Given the description of an element on the screen output the (x, y) to click on. 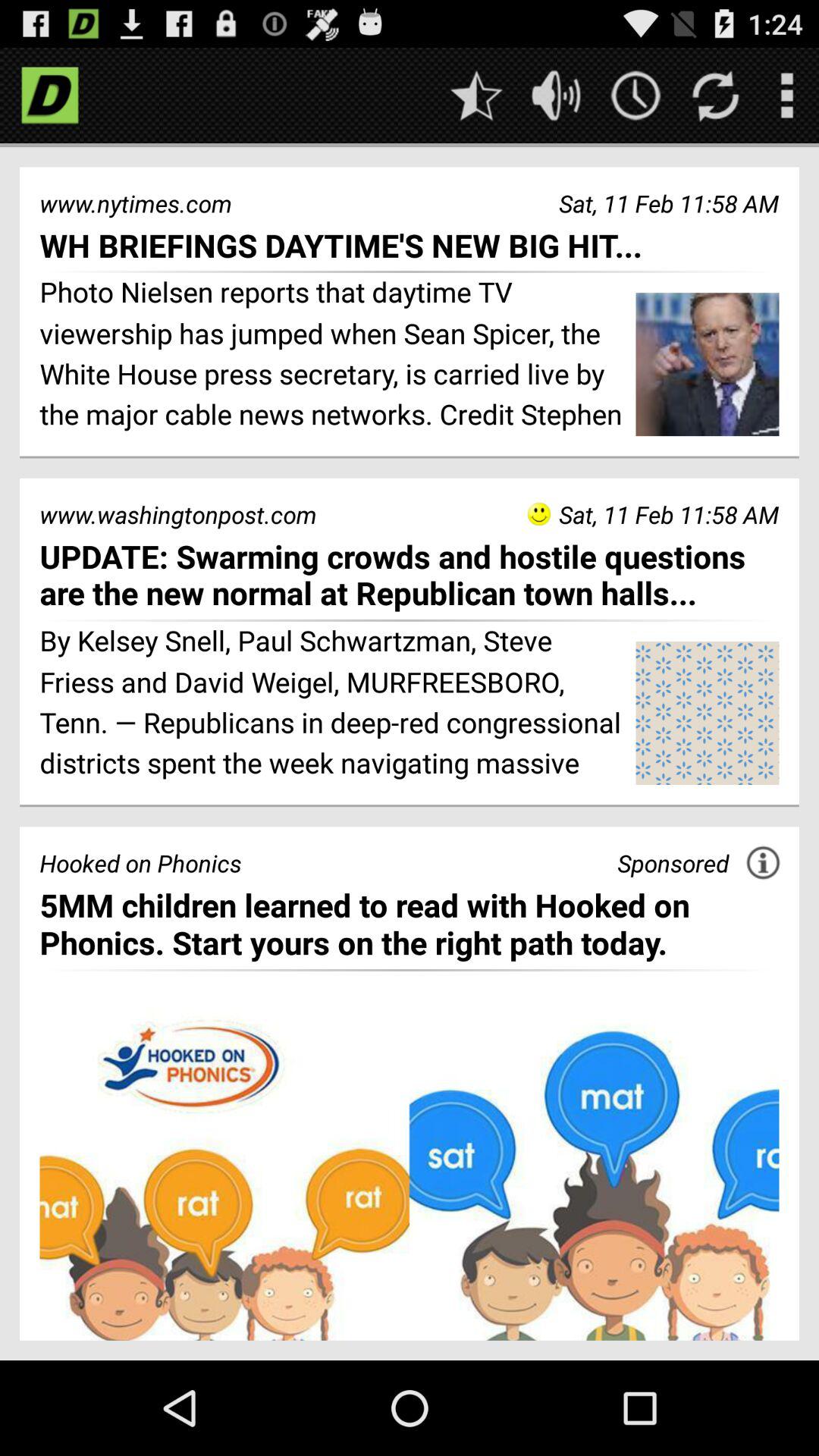
open menu (787, 95)
